Given the description of an element on the screen output the (x, y) to click on. 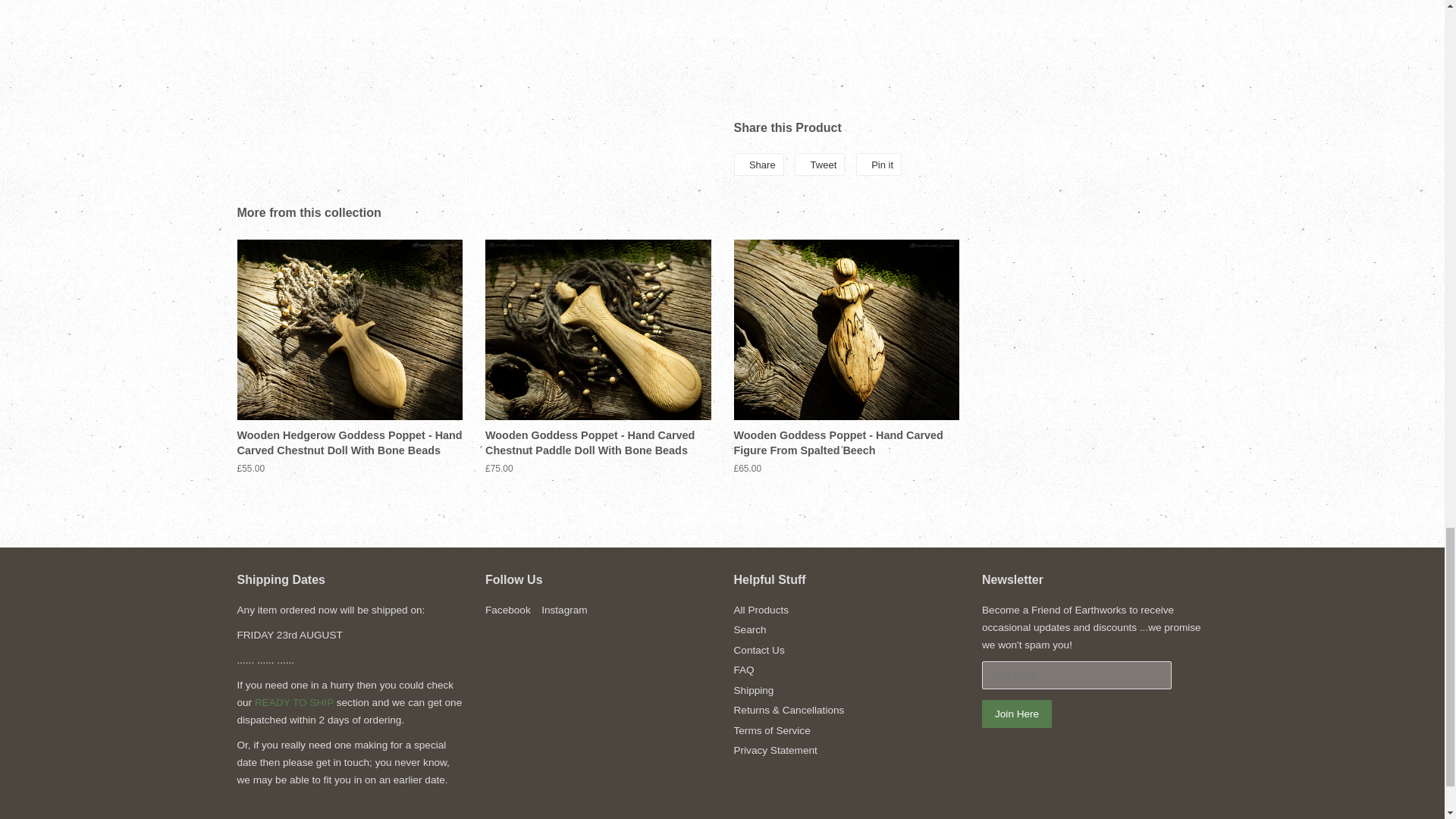
Earthworks Journals on Instagram (563, 609)
Ready To Ship (293, 702)
Join Here (1016, 714)
Share on Facebook (758, 164)
Earthworks Journals on Facebook (507, 609)
Pin on Pinterest (878, 164)
Tweet on Twitter (819, 164)
